Given the description of an element on the screen output the (x, y) to click on. 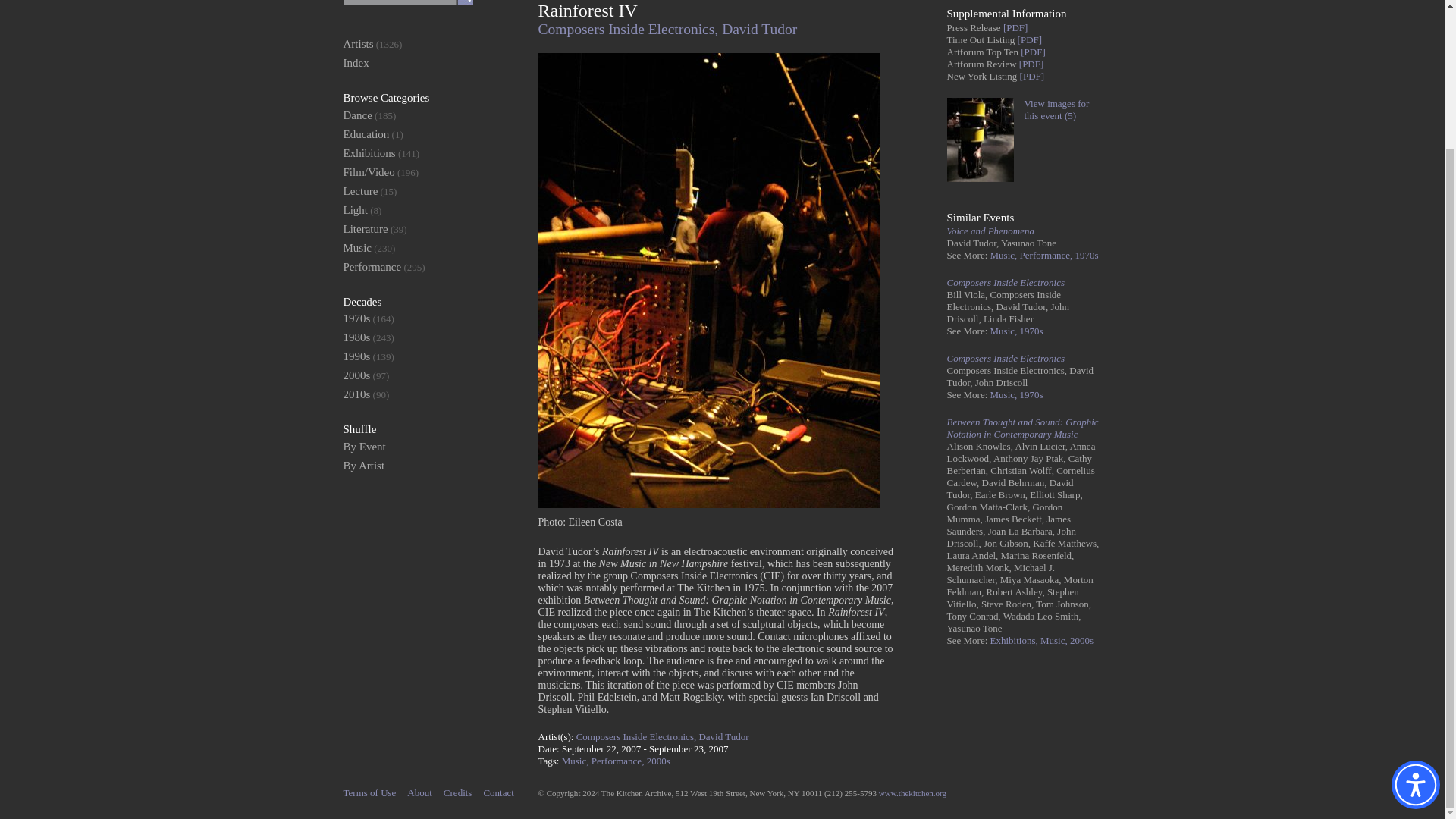
Artists (357, 43)
Music, (576, 760)
Composers Inside Electronics (1005, 282)
Composers Inside Electronics, (630, 28)
Music, (1005, 330)
1970s (1085, 255)
1970s (1031, 394)
2000s (1081, 640)
Composers Inside Electronics, (637, 736)
Performance, (618, 760)
